Given the description of an element on the screen output the (x, y) to click on. 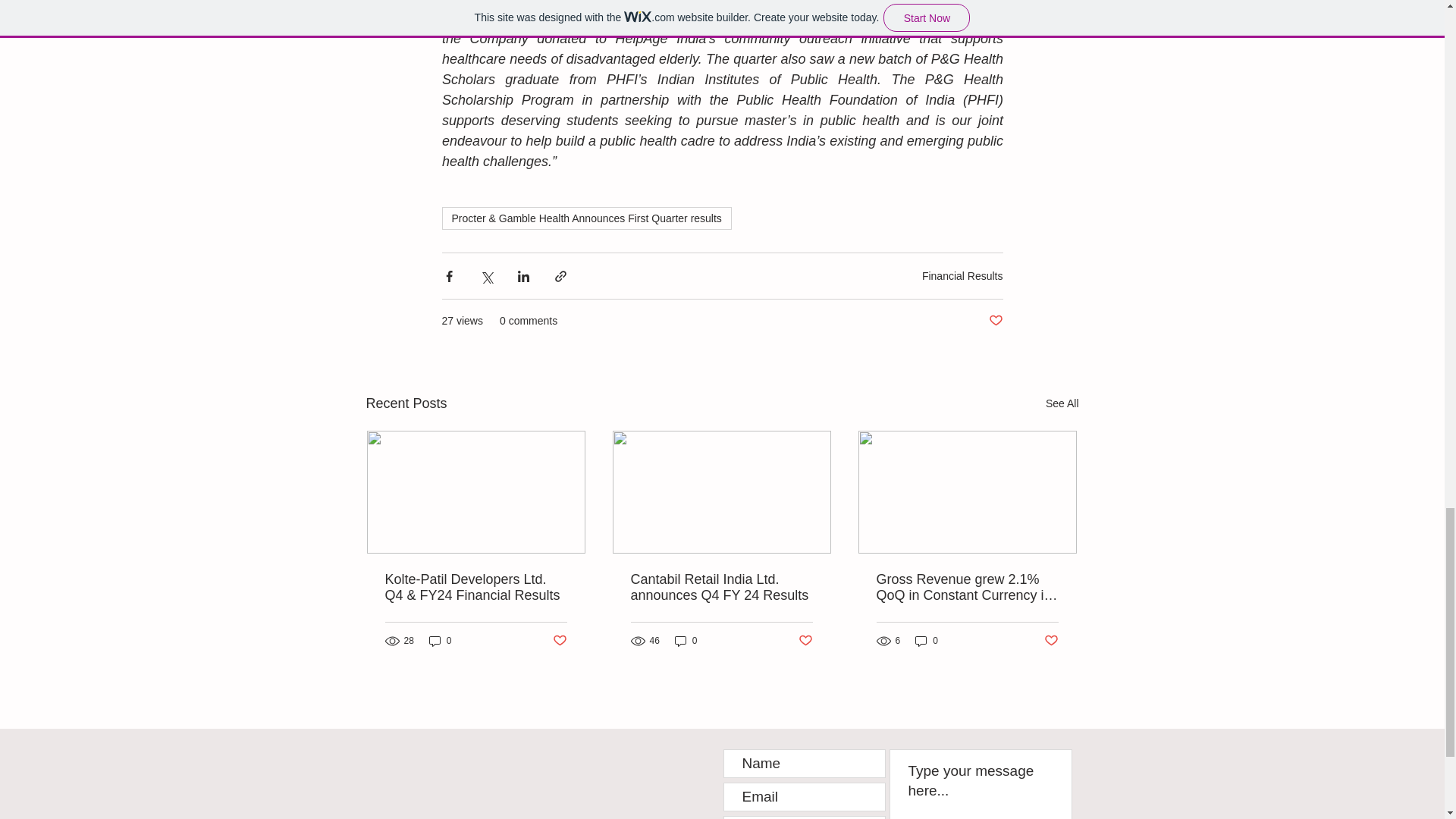
Post not marked as liked (995, 320)
Post not marked as liked (804, 641)
Post not marked as liked (1050, 641)
See All (1061, 403)
Cantabil Retail India Ltd. announces Q4 FY 24 Results (721, 587)
Financial Results (962, 275)
0 (685, 640)
0 (440, 640)
Post not marked as liked (558, 641)
0 (926, 640)
